Given the description of an element on the screen output the (x, y) to click on. 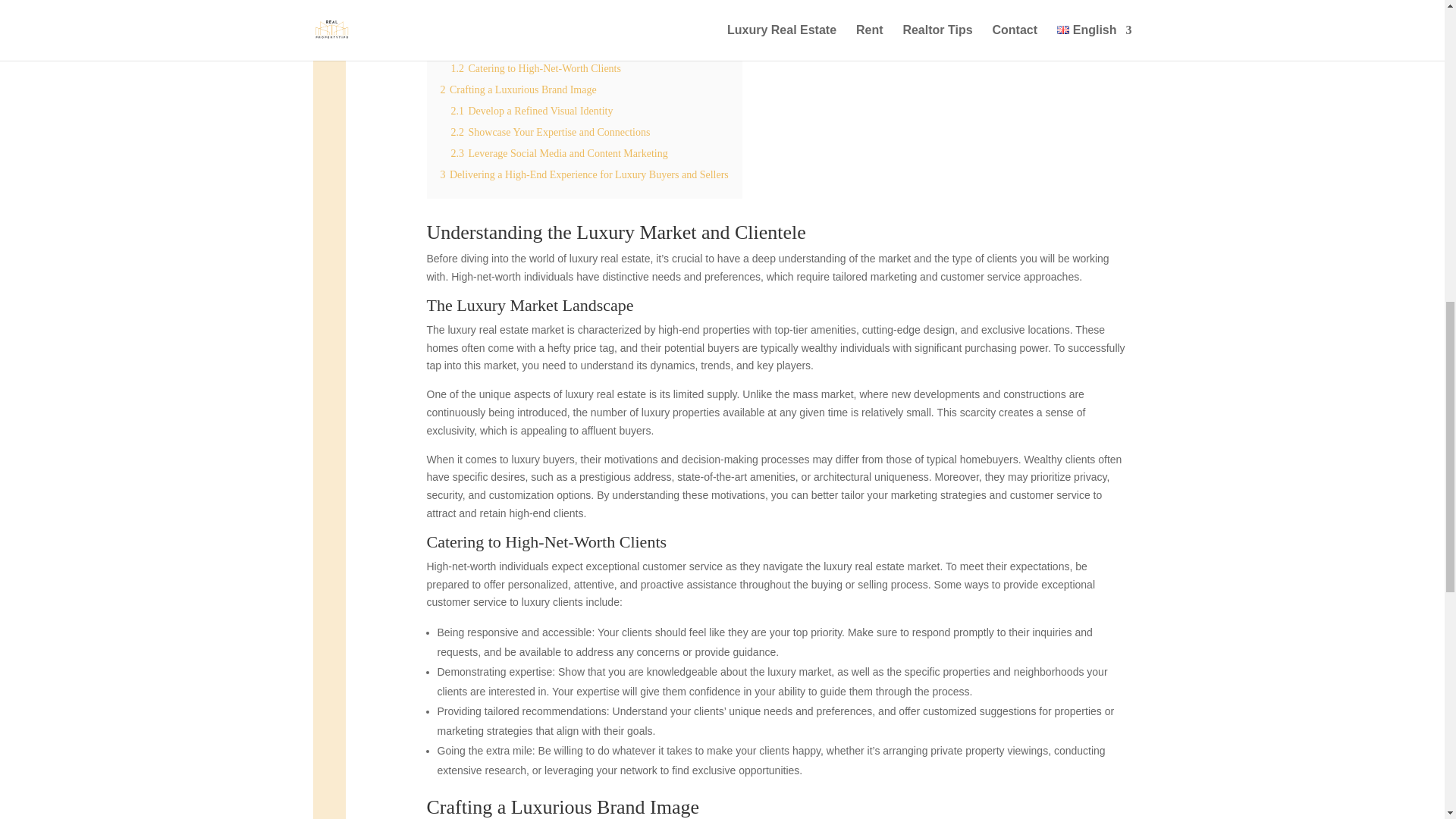
1 Understanding the Luxury Market and Clientele (546, 25)
2.2 Showcase Your Expertise and Connections (549, 132)
1.2 Catering to High-Net-Worth Clients (534, 68)
2.3 Leverage Social Media and Content Marketing (557, 153)
2.1 Develop a Refined Visual Identity (530, 111)
2 Crafting a Luxurious Brand Image (517, 89)
1.1 The Luxury Market Landscape (524, 47)
